Given the description of an element on the screen output the (x, y) to click on. 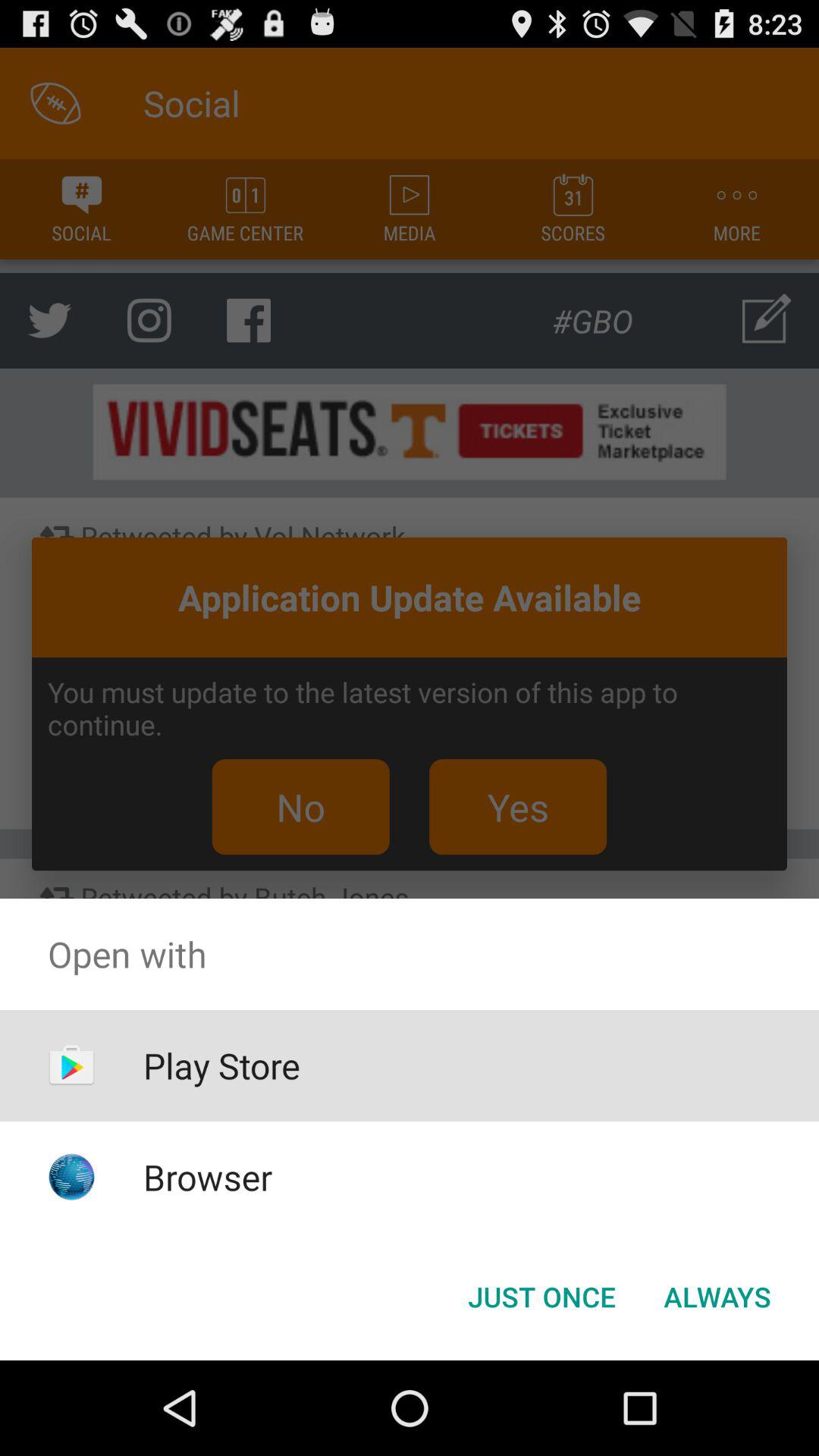
launch icon to the left of always item (541, 1296)
